Given the description of an element on the screen output the (x, y) to click on. 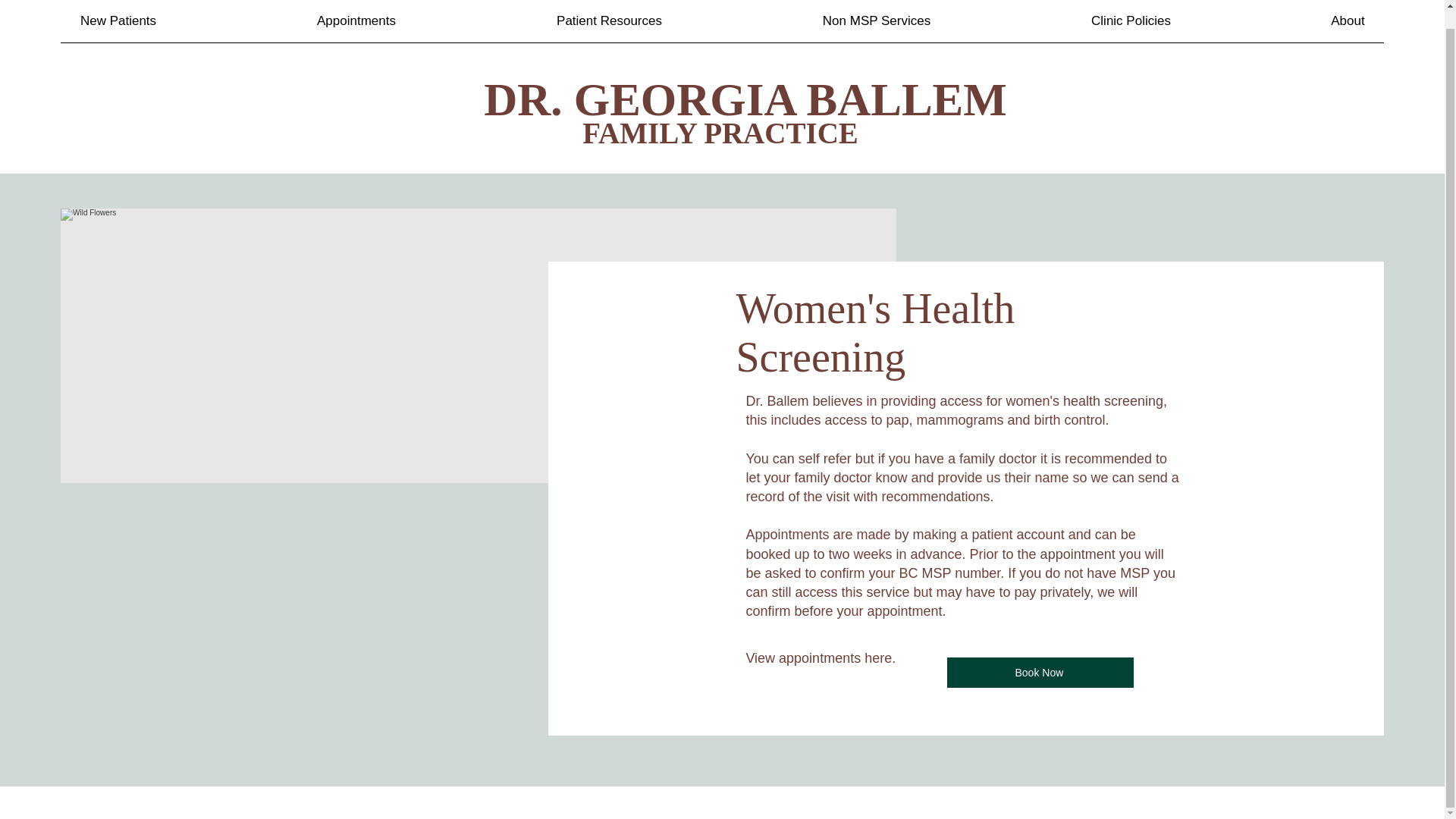
Clinic Policies (1130, 12)
Book Now (1040, 672)
New Patients (117, 12)
DR. GEORGIA BALLEM (745, 81)
